Given the description of an element on the screen output the (x, y) to click on. 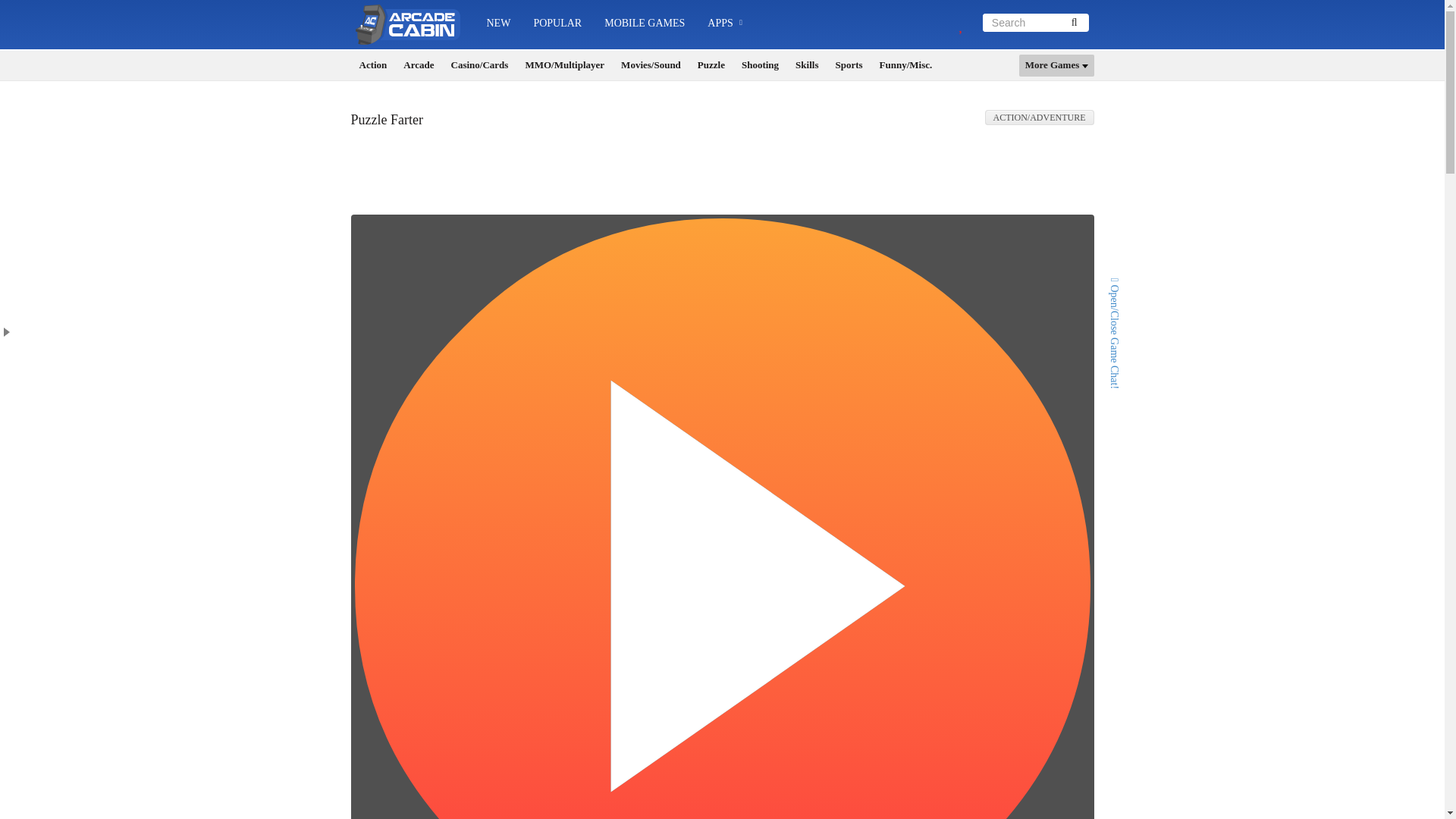
More Games (1056, 65)
Shooting (759, 65)
POPULAR (556, 23)
Advertisement (722, 176)
Arcade (418, 65)
Skills (806, 65)
APPS (724, 23)
MOBILE GAMES (643, 23)
NEW (497, 23)
Sports (847, 65)
